Given the description of an element on the screen output the (x, y) to click on. 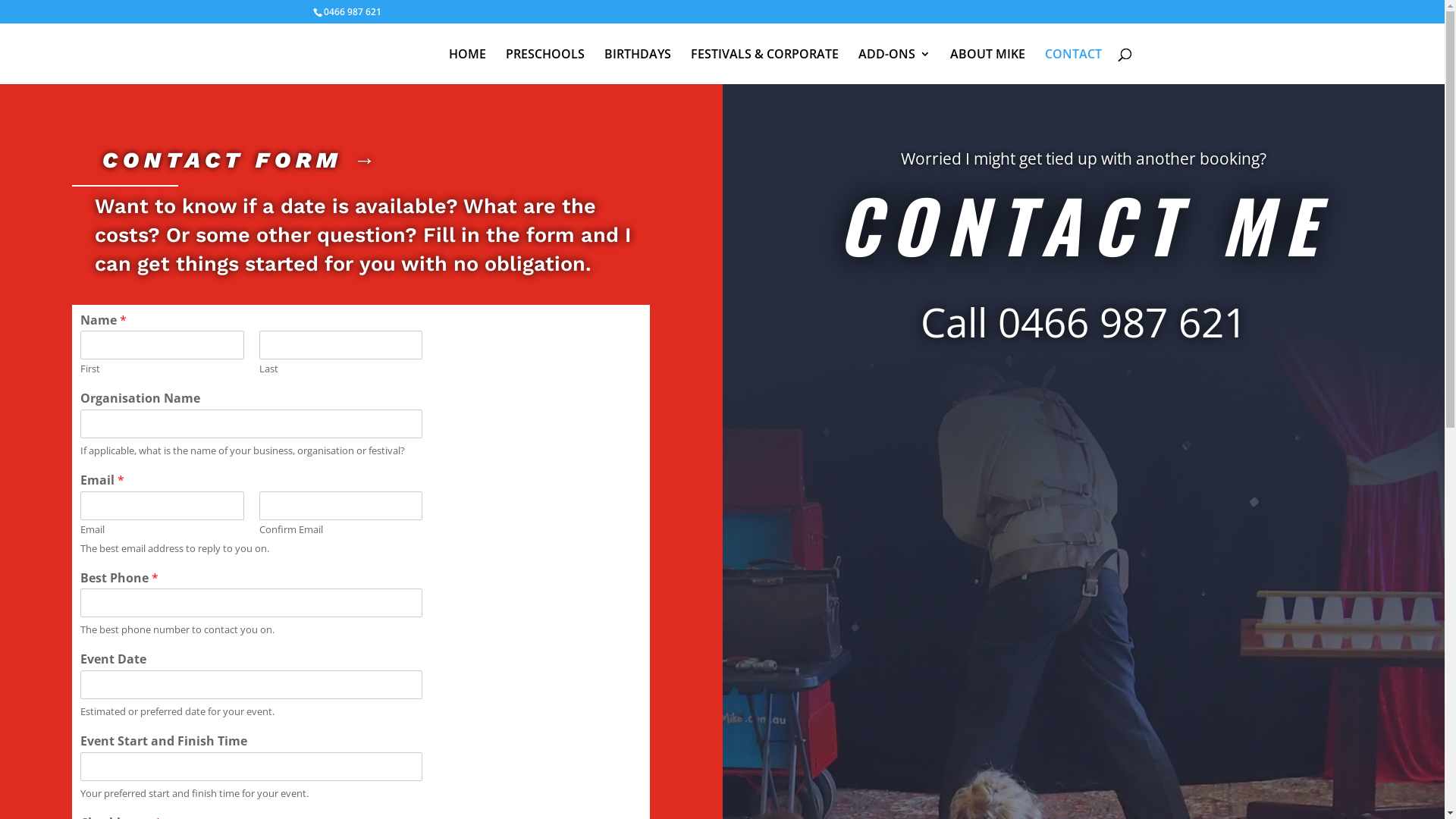
BIRTHDAYS Element type: text (636, 66)
FESTIVALS & CORPORATE Element type: text (763, 66)
CONTACT Element type: text (1072, 66)
HOME Element type: text (467, 66)
ABOUT MIKE Element type: text (986, 66)
PRESCHOOLS Element type: text (544, 66)
ADD-ONS Element type: text (894, 66)
